Given the description of an element on the screen output the (x, y) to click on. 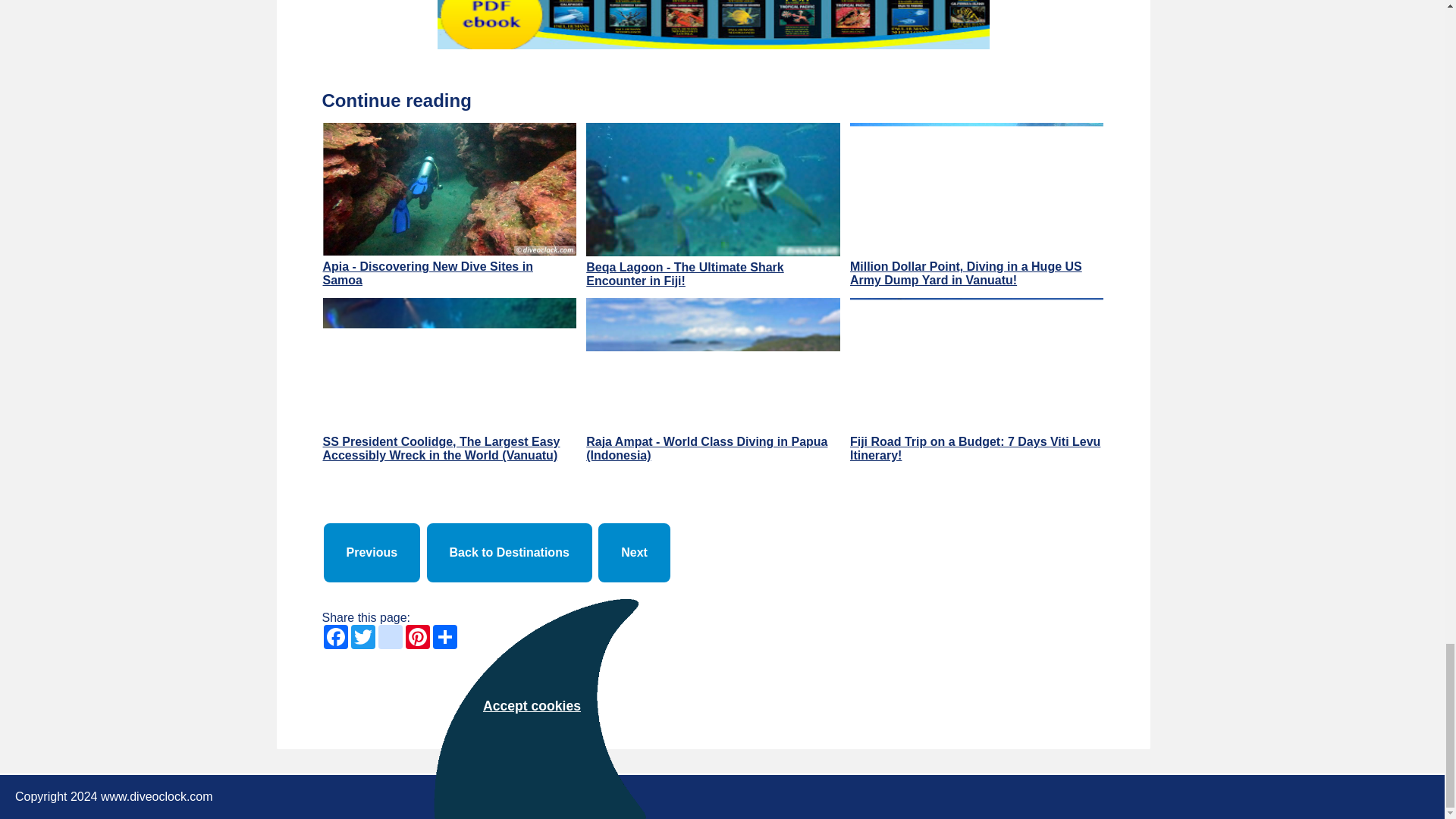
Previous (371, 552)
Twitter (362, 636)
Beqa Lagoon - The Ultimate Shark Encounter in Fiji! (713, 206)
instagram (389, 636)
Back to Destinations (509, 552)
Fiji Road Trip on a Budget: 7 Days Viti Levu Itinerary! (976, 382)
Facebook (335, 636)
Apia - Discovering New Dive Sites in Samoa (449, 206)
Next (633, 552)
